Given the description of an element on the screen output the (x, y) to click on. 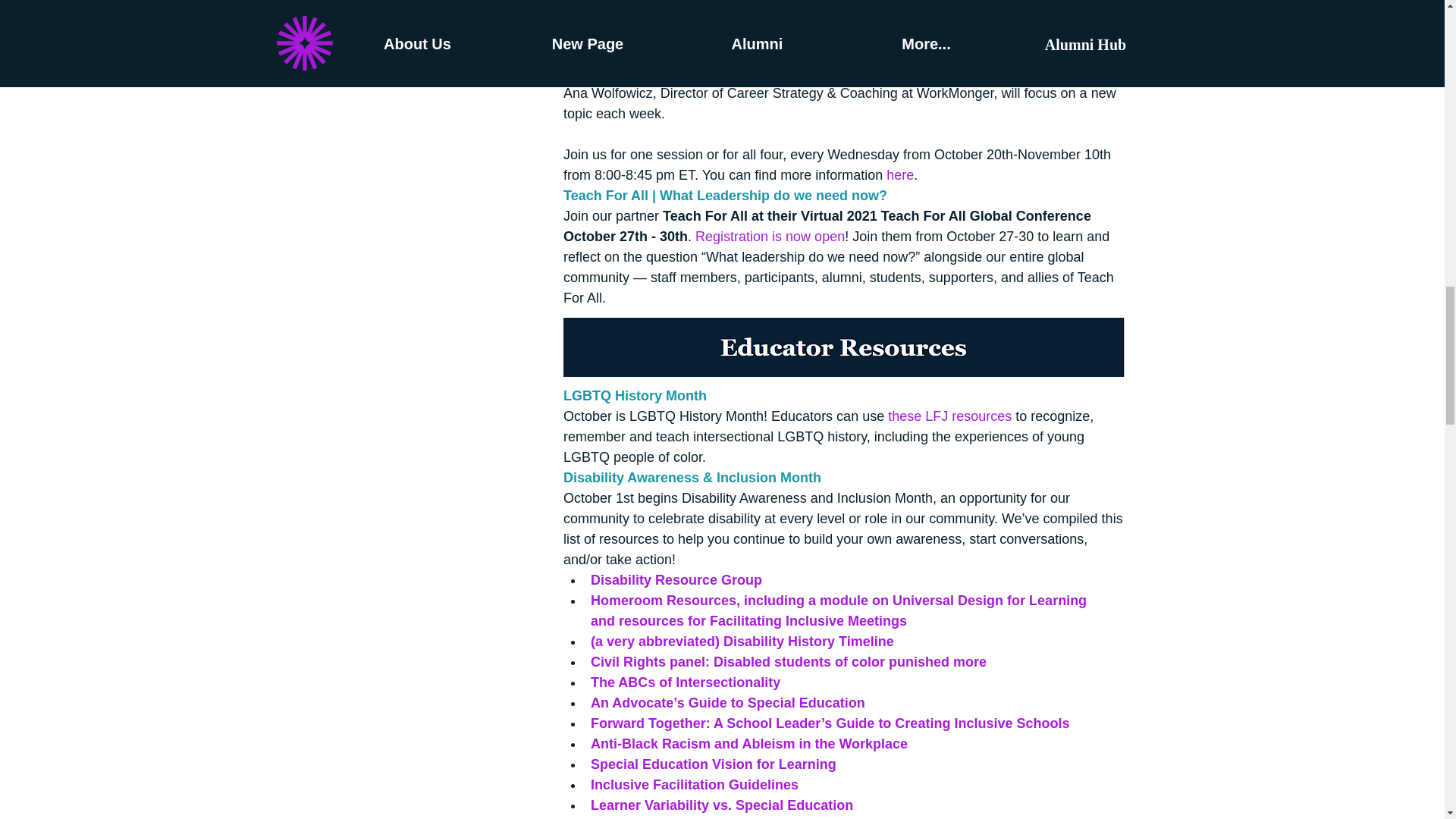
Civil Rights panel: Disabled students of color punished more (787, 661)
these LFJ resources (949, 415)
Disability Resource Group (675, 579)
here (648, 10)
LGBTQ History Month (634, 394)
here (900, 174)
Registration is now open (769, 235)
The ABCs of Intersectionality (683, 681)
